Given the description of an element on the screen output the (x, y) to click on. 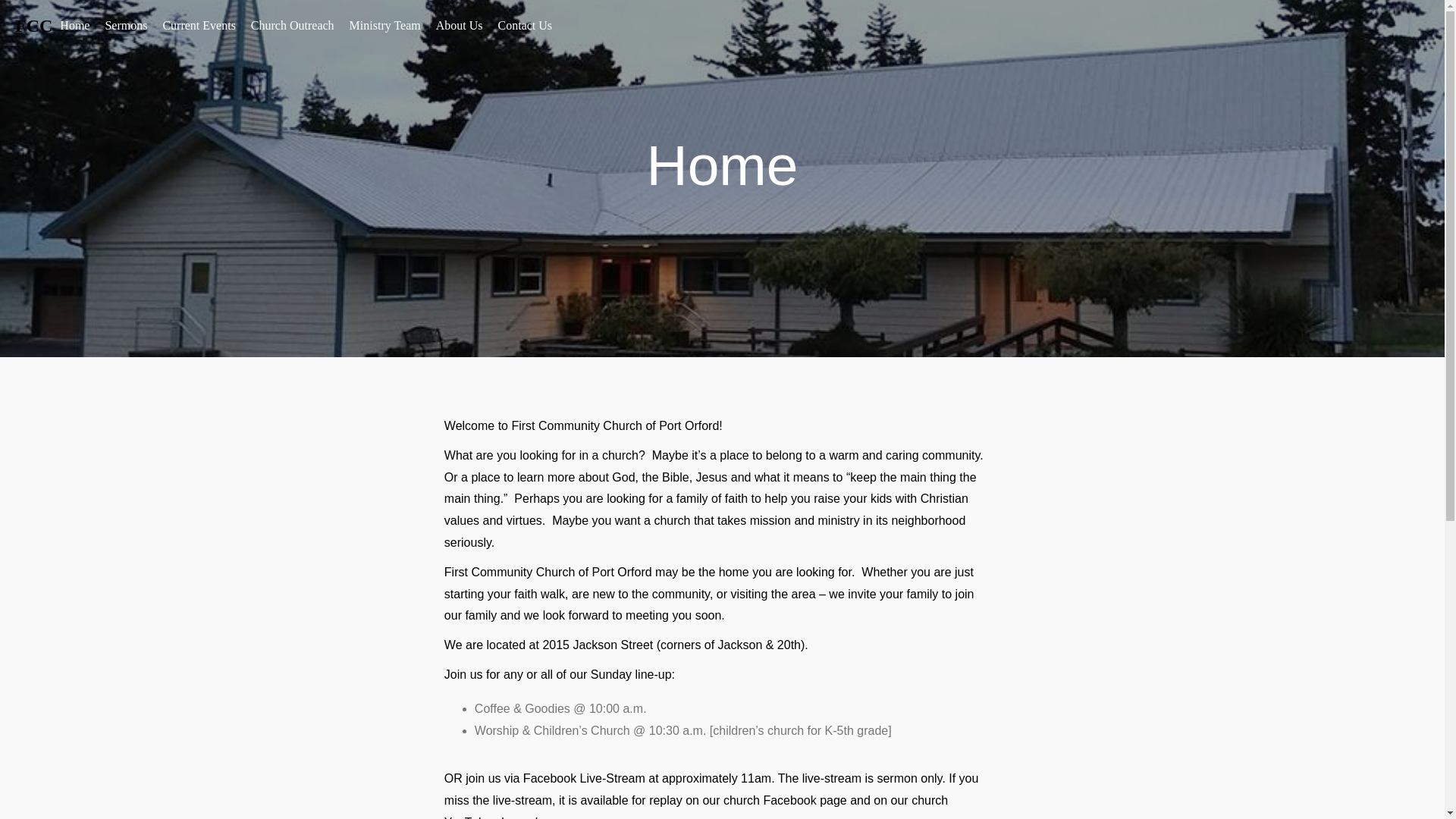
Ministry Team (385, 25)
About Us (459, 25)
FCC (33, 25)
Contact Us (525, 25)
Current Events (198, 25)
Home (74, 25)
Sermons (125, 25)
Church Outreach (292, 25)
